Given the description of an element on the screen output the (x, y) to click on. 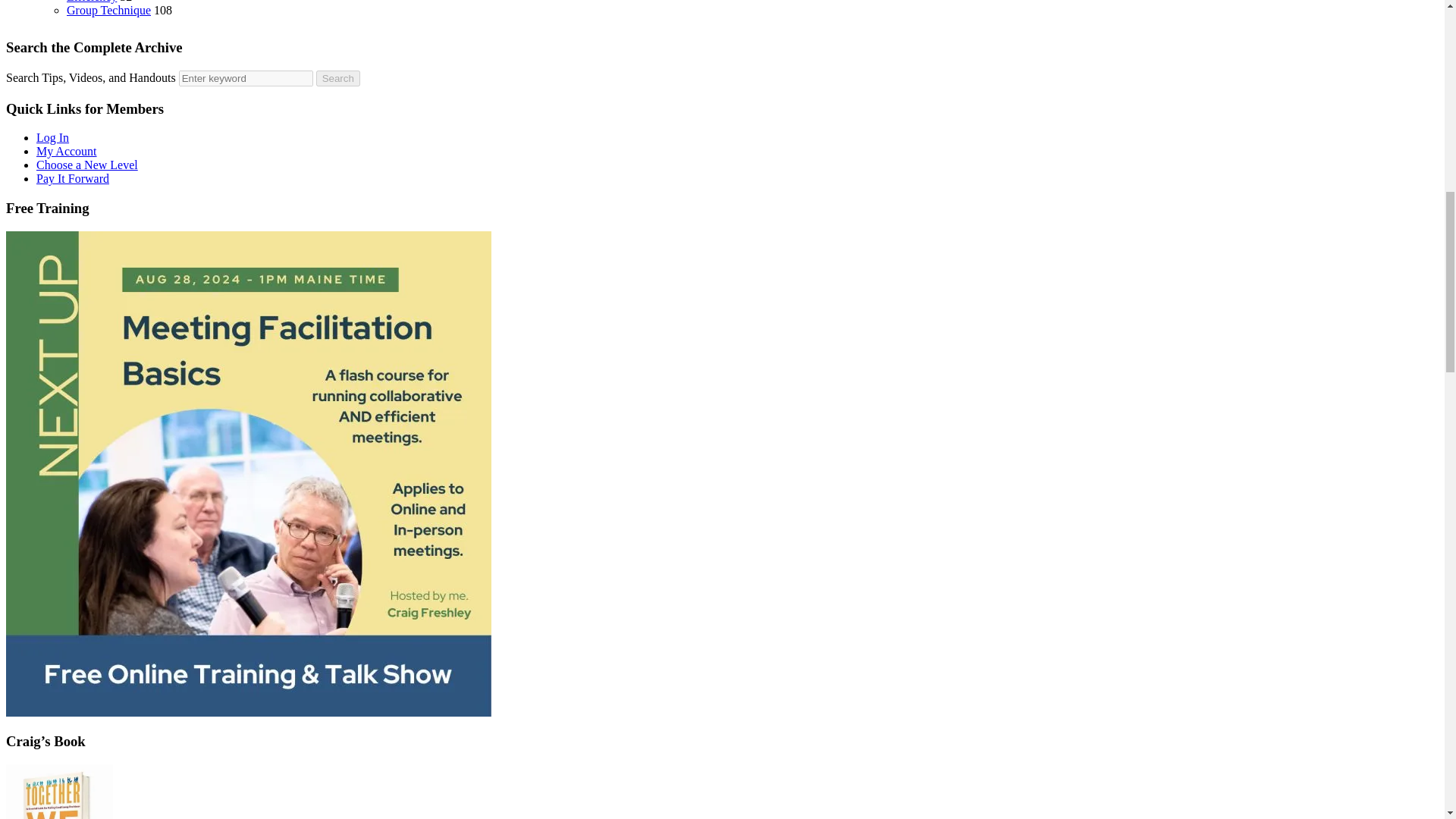
Group Technique (108, 10)
Search (337, 78)
Log In (52, 137)
My Account (66, 151)
Search (337, 78)
Pay It Forward (72, 178)
Search (337, 78)
Efficiency (91, 1)
Choose a New Level (87, 164)
